Given the description of an element on the screen output the (x, y) to click on. 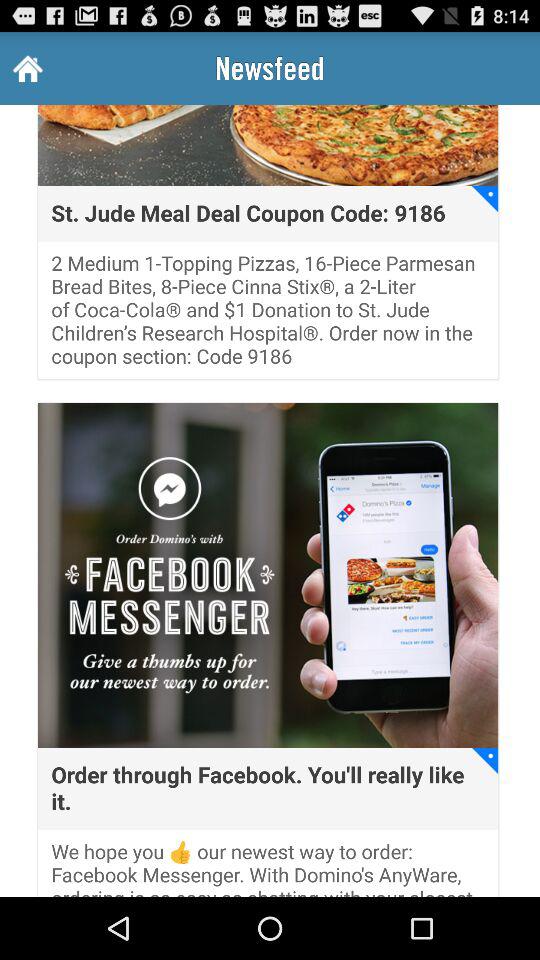
tap the icon below the st jude meal item (268, 315)
